Given the description of an element on the screen output the (x, y) to click on. 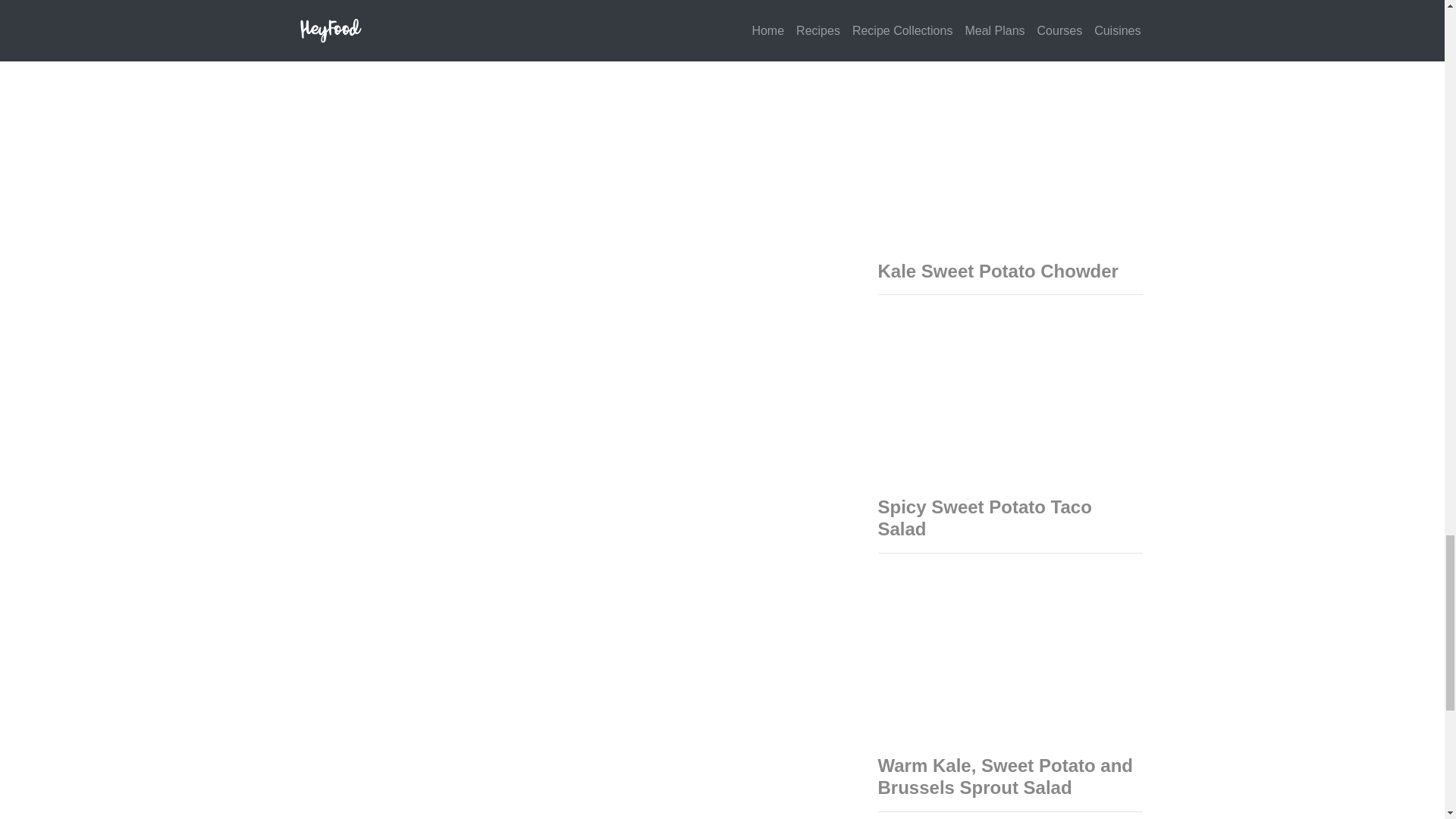
Spicy Sweet Potato Taco Salad (984, 517)
Kale Sweet Potato Chowder (997, 271)
Warm Kale, Sweet Potato and Brussels Sprout Salad (1005, 776)
